Given the description of an element on the screen output the (x, y) to click on. 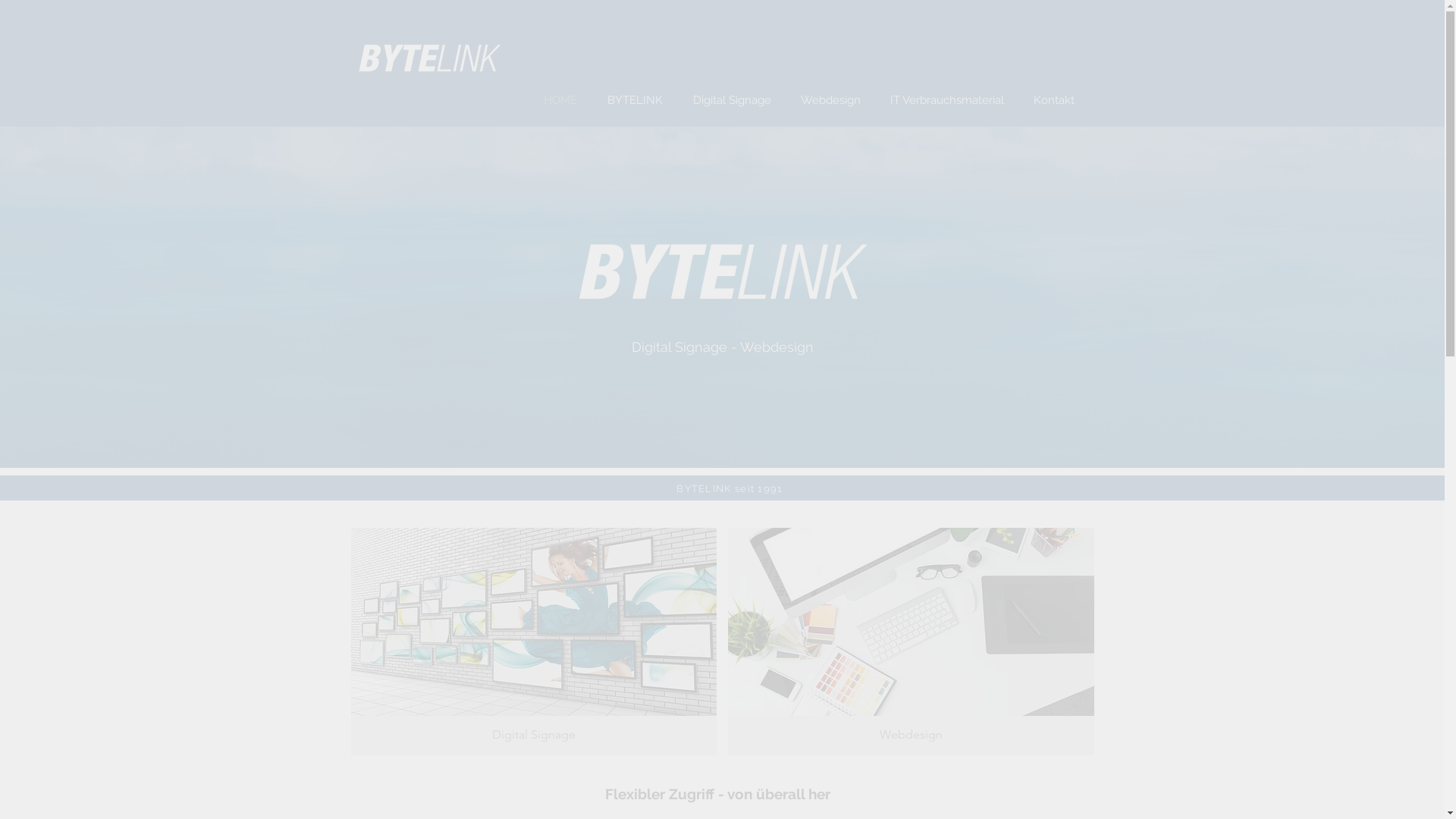
Digital Signage Element type: text (533, 641)
IT Verbrauchsmaterial Element type: text (946, 100)
Webdesign Element type: text (911, 641)
HOME Element type: text (559, 100)
Kontakt Element type: text (1054, 100)
